Given the description of an element on the screen output the (x, y) to click on. 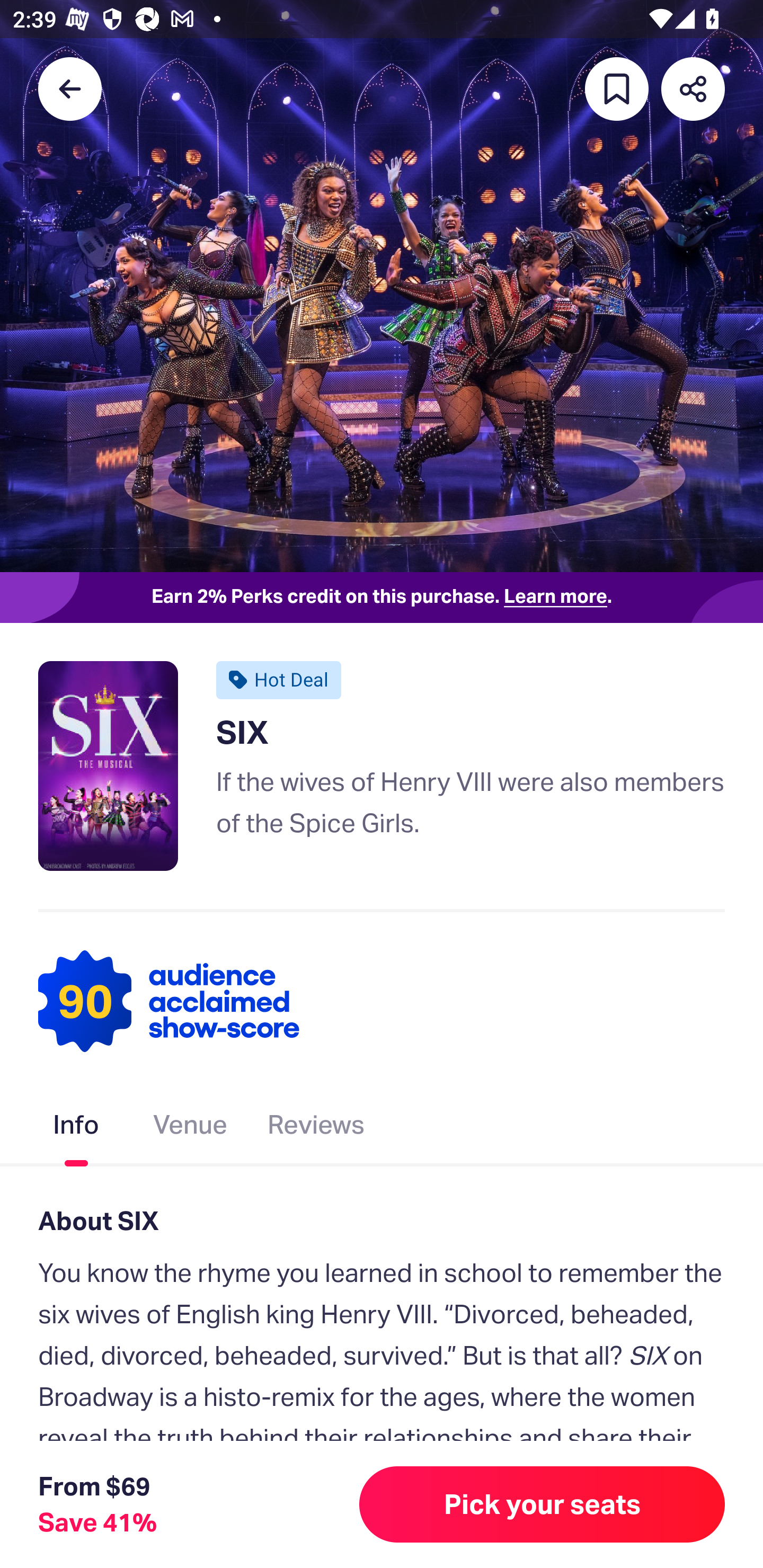
Earn 2% Perks credit on this purchase. Learn more. (381, 597)
Venue (190, 1127)
Reviews (315, 1127)
About SIX (381, 1220)
Read more (99, 1485)
Pick your seats (541, 1504)
